Given the description of an element on the screen output the (x, y) to click on. 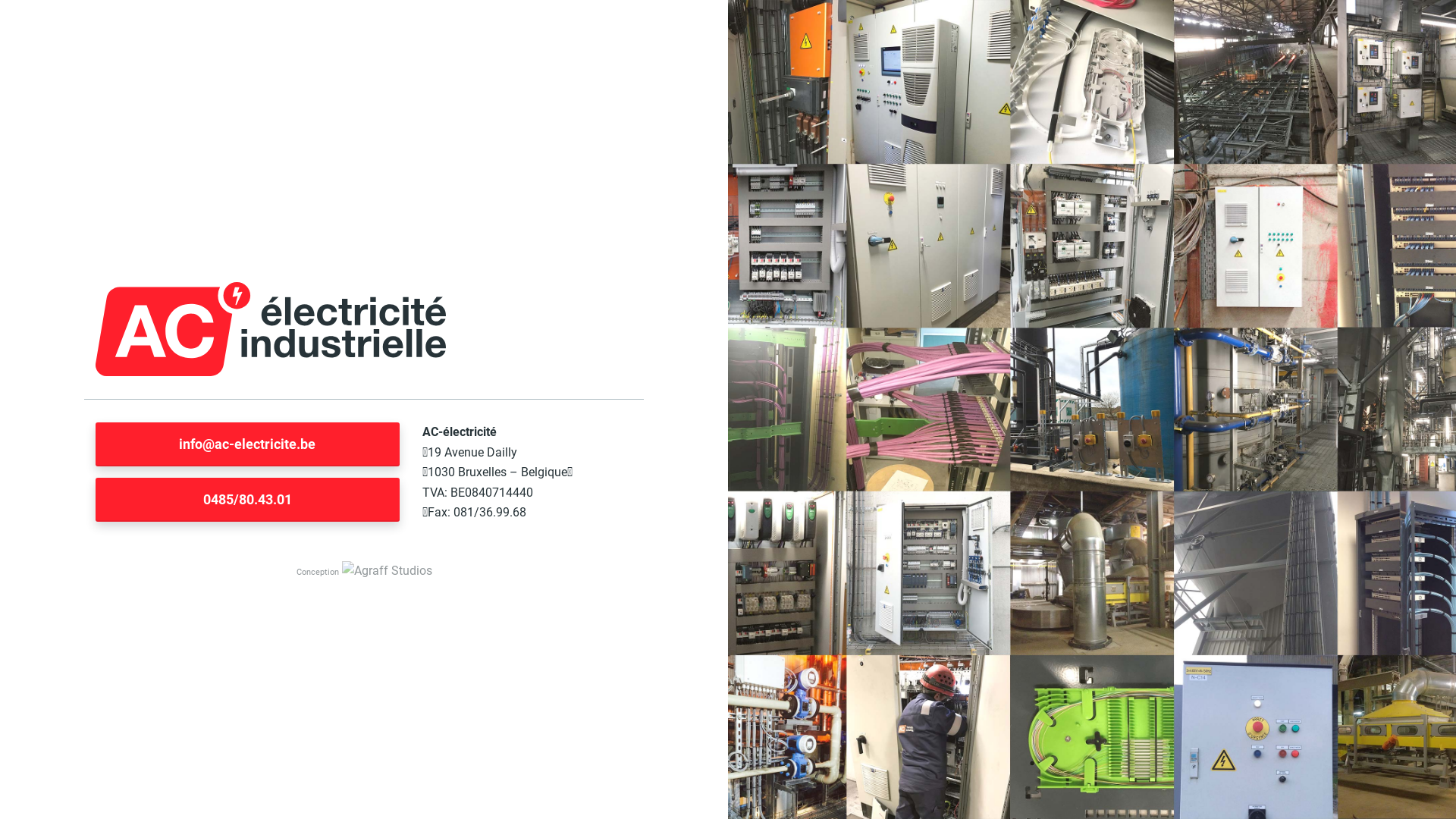
0485/80.43.01 Element type: text (247, 499)
info@ac-electricite.be Element type: text (247, 444)
